Given the description of an element on the screen output the (x, y) to click on. 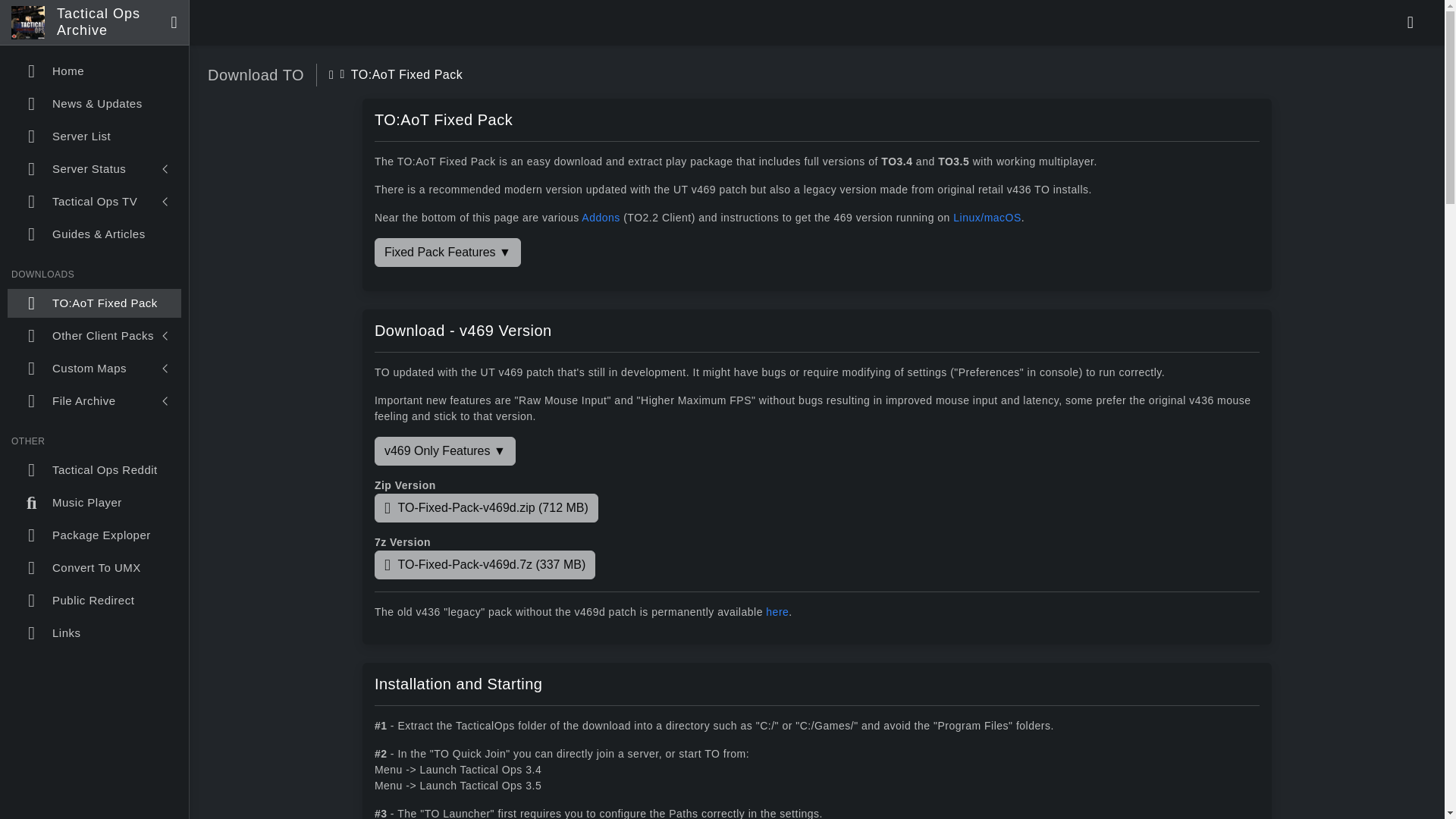
Other Client Packs (93, 335)
Server List (93, 136)
TO:AoT Fixed Pack (93, 303)
Public Redirect (93, 600)
Tactical Ops TV (93, 201)
Music Player (93, 502)
Convert To UMX (93, 567)
Custom Maps (93, 368)
Links (93, 633)
Home (93, 70)
Server Status (93, 168)
Package Exploper (93, 534)
Tactical Ops Reddit (93, 469)
File Archive (93, 400)
